Given the description of an element on the screen output the (x, y) to click on. 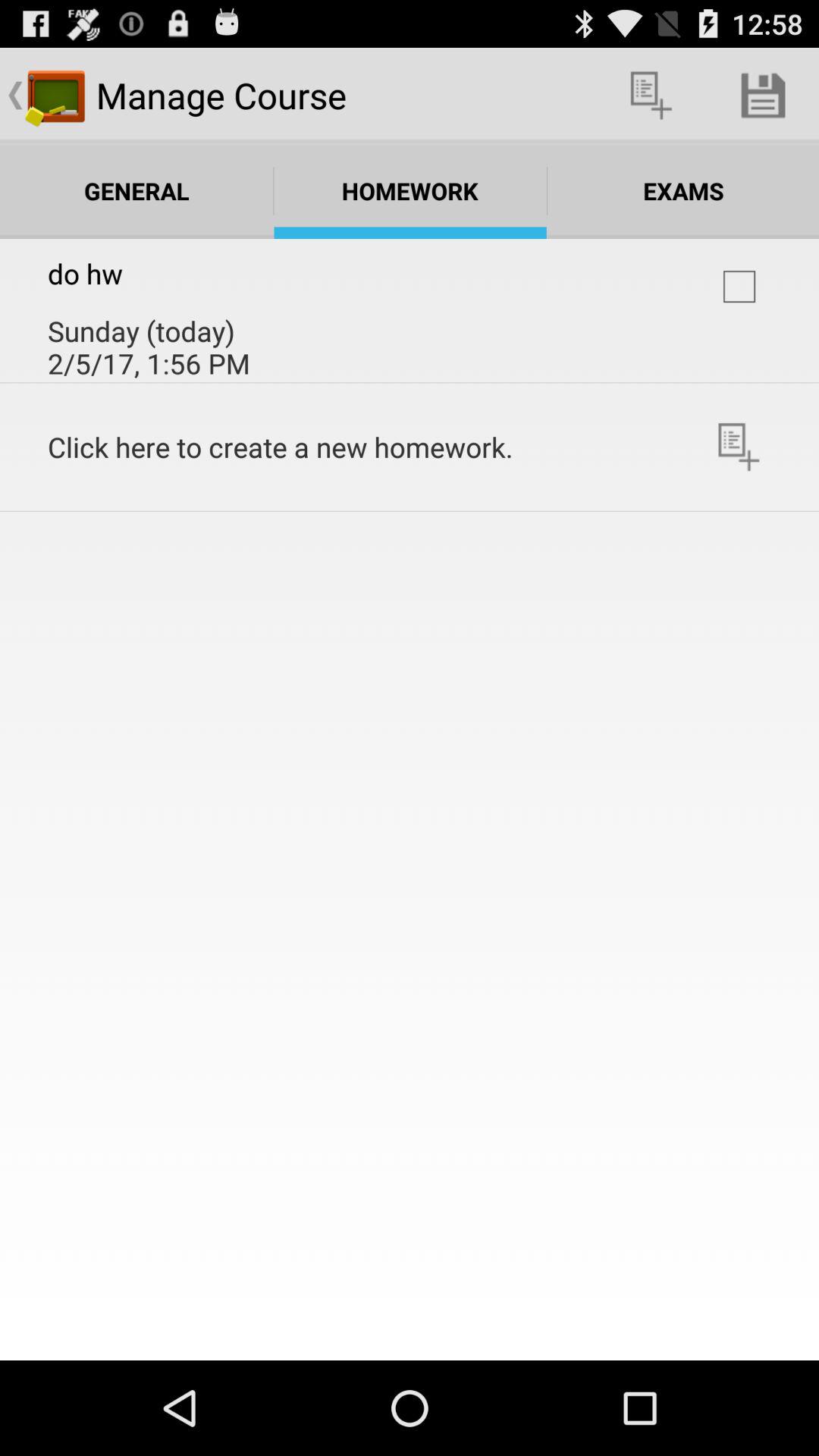
press icon above the exams (763, 95)
